Given the description of an element on the screen output the (x, y) to click on. 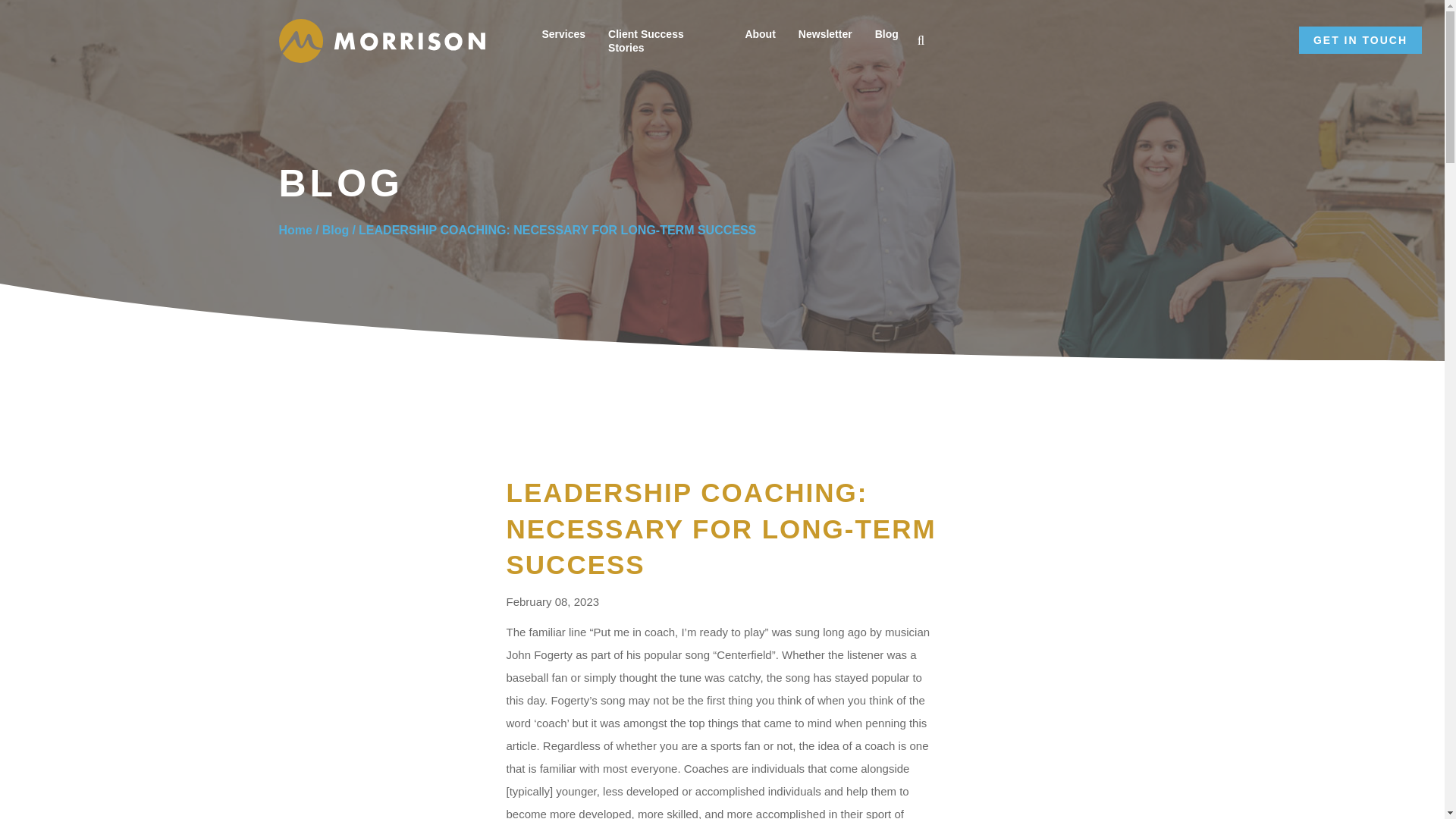
Client Success Stories (665, 40)
Newsletter (824, 33)
GET IN TOUCH (1360, 40)
Home (296, 230)
Blog (335, 230)
Services (563, 33)
About (759, 33)
Blog (886, 33)
